Given the description of an element on the screen output the (x, y) to click on. 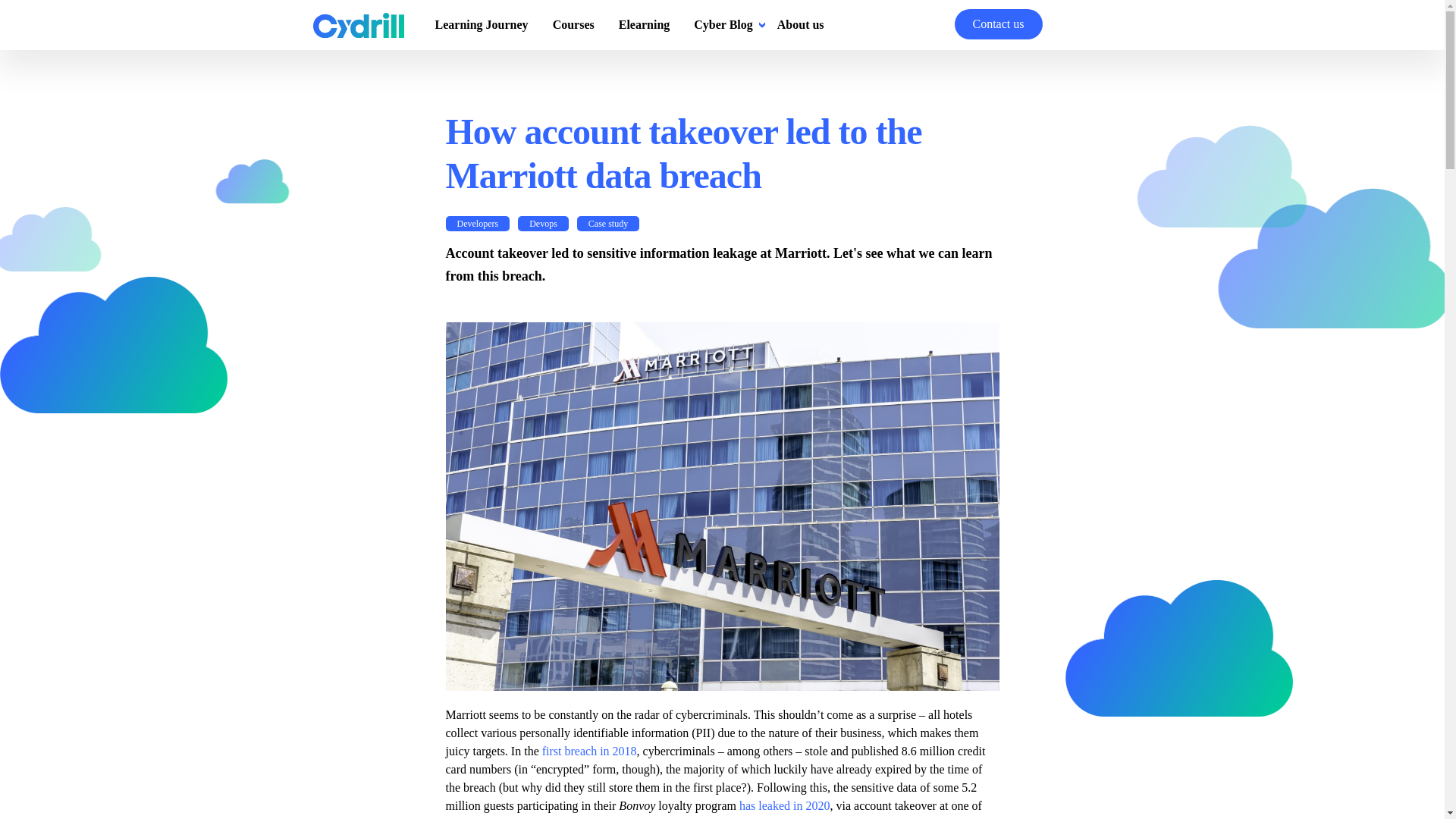
Contact us (997, 24)
first breach in 2018 (589, 750)
Courses (573, 24)
Elearning (644, 24)
Learning Journey (481, 24)
About us (800, 24)
has leaked in 2020 (784, 805)
Cyber Blog (722, 24)
